Given the description of an element on the screen output the (x, y) to click on. 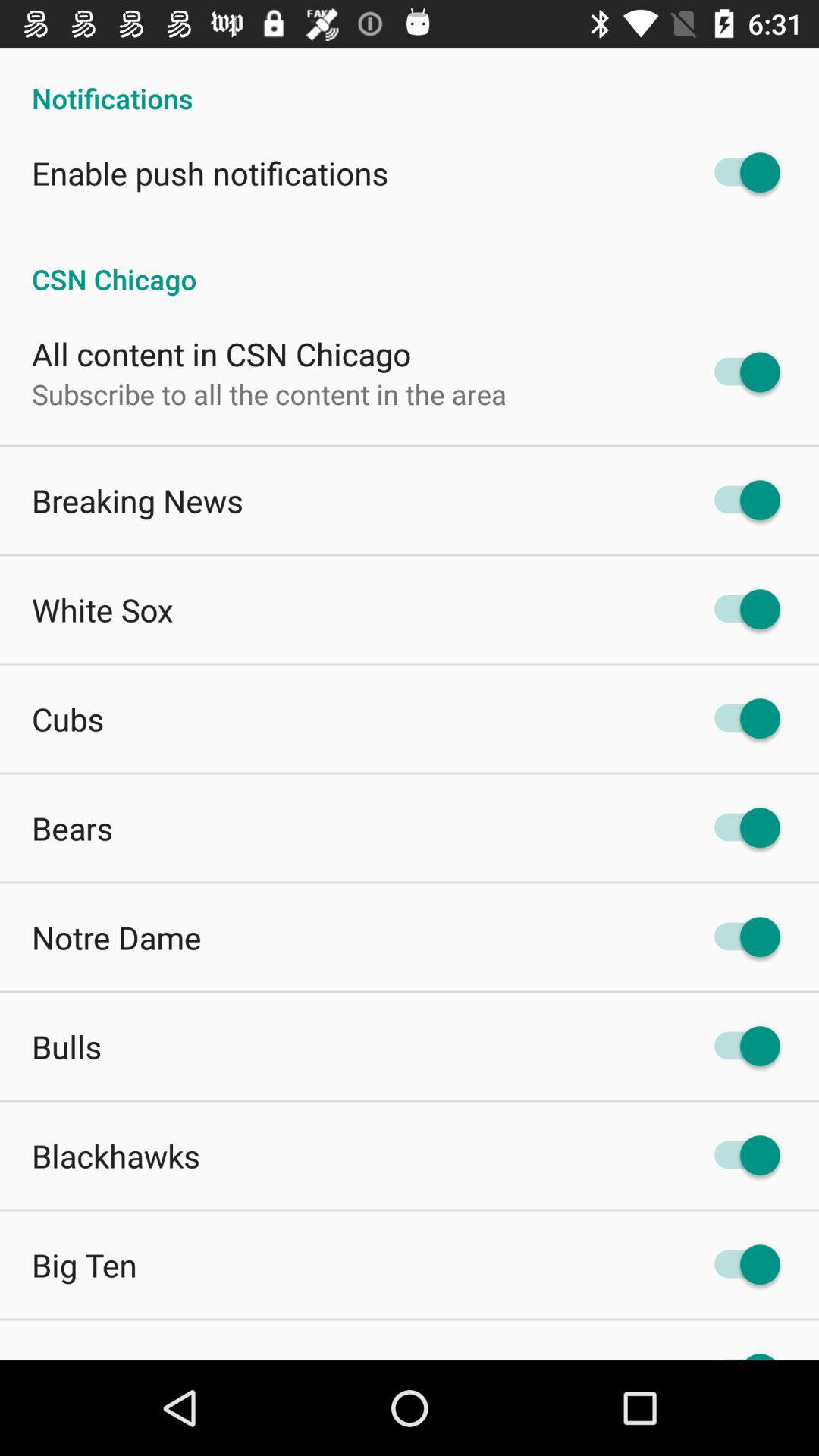
jump to cubs app (67, 718)
